Given the description of an element on the screen output the (x, y) to click on. 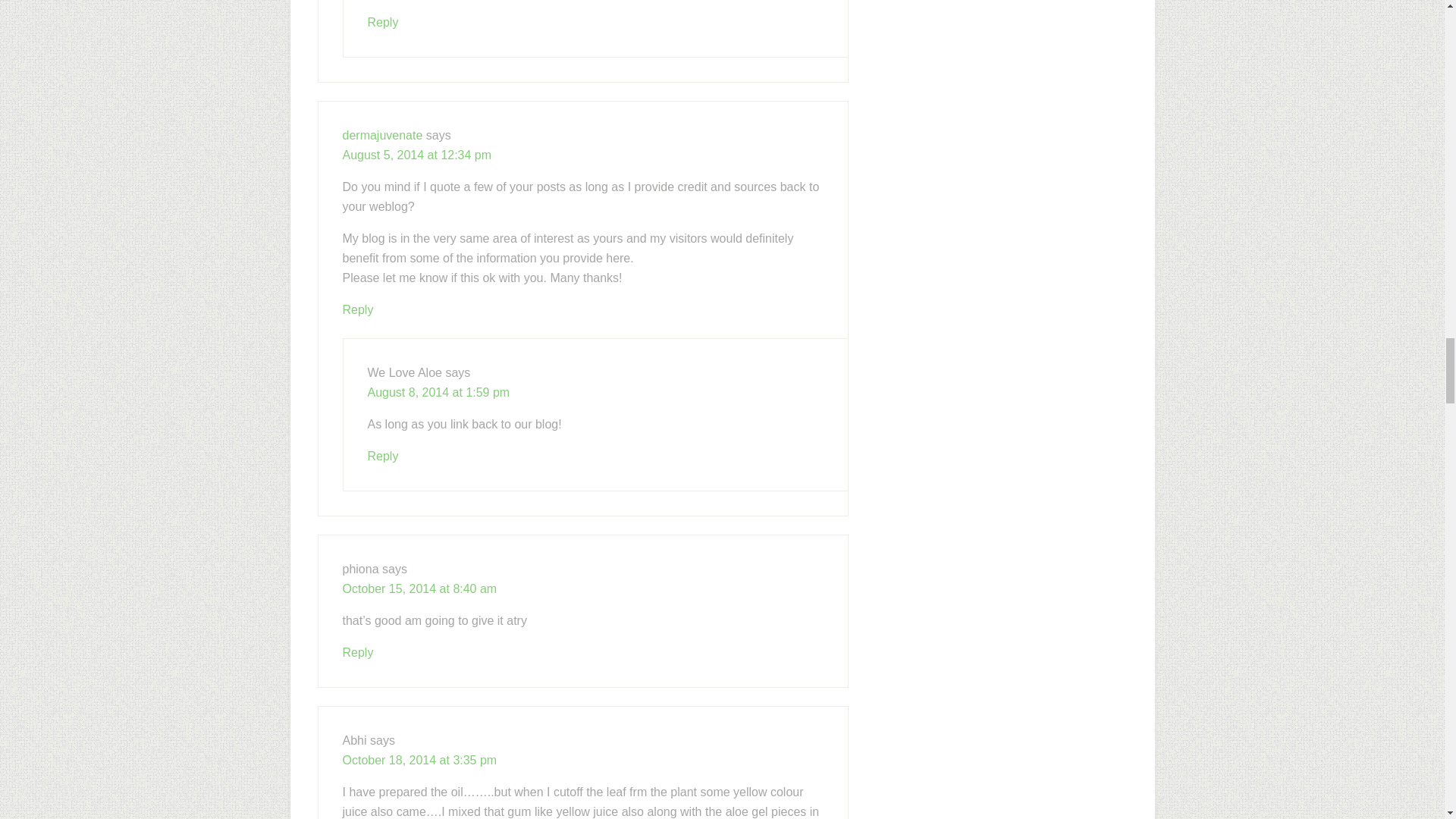
October 15, 2014 at 8:40 am (419, 588)
Reply (381, 21)
August 8, 2014 at 1:59 pm (437, 391)
Reply (358, 309)
Reply (381, 455)
August 5, 2014 at 12:34 pm (417, 154)
dermajuvenate (382, 134)
Reply (358, 652)
